Given the description of an element on the screen output the (x, y) to click on. 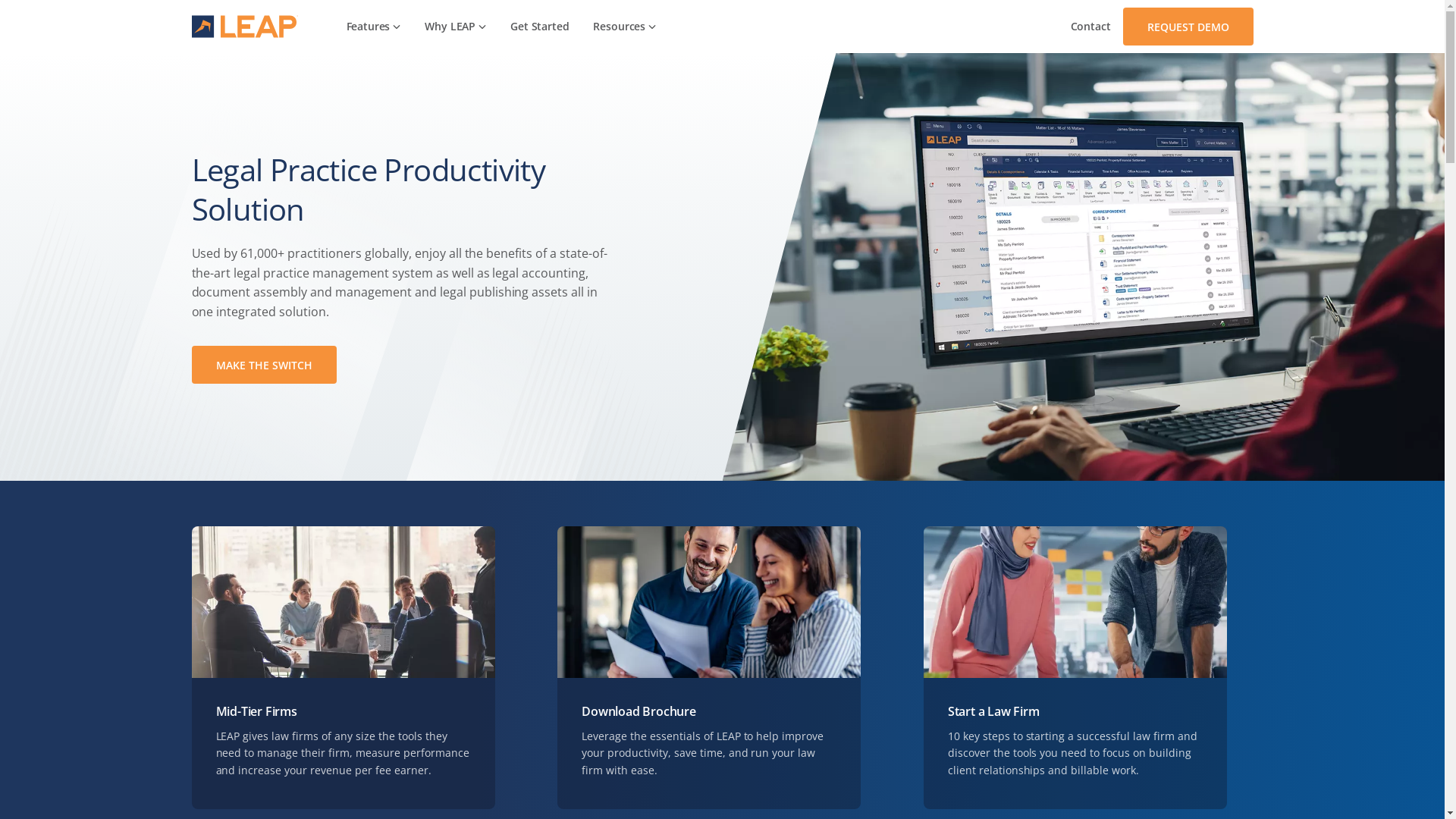
REQUEST DEMO Element type: text (1187, 26)
Contact Element type: text (1090, 26)
MAKE THE SWITCH Element type: text (263, 364)
Get Started Element type: text (539, 26)
